Given the description of an element on the screen output the (x, y) to click on. 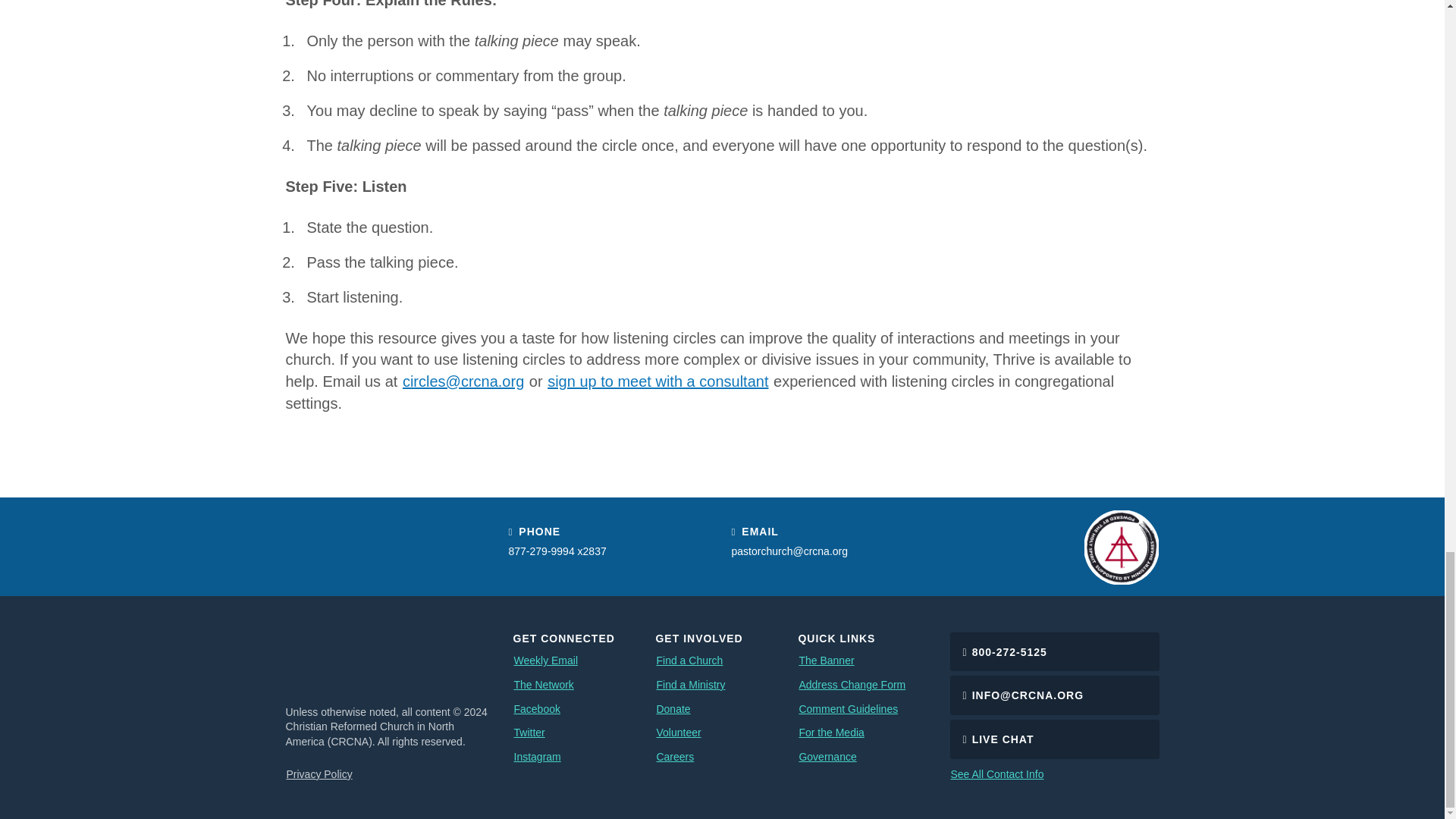
sign up to meet with a consultant (657, 381)
